Given the description of an element on the screen output the (x, y) to click on. 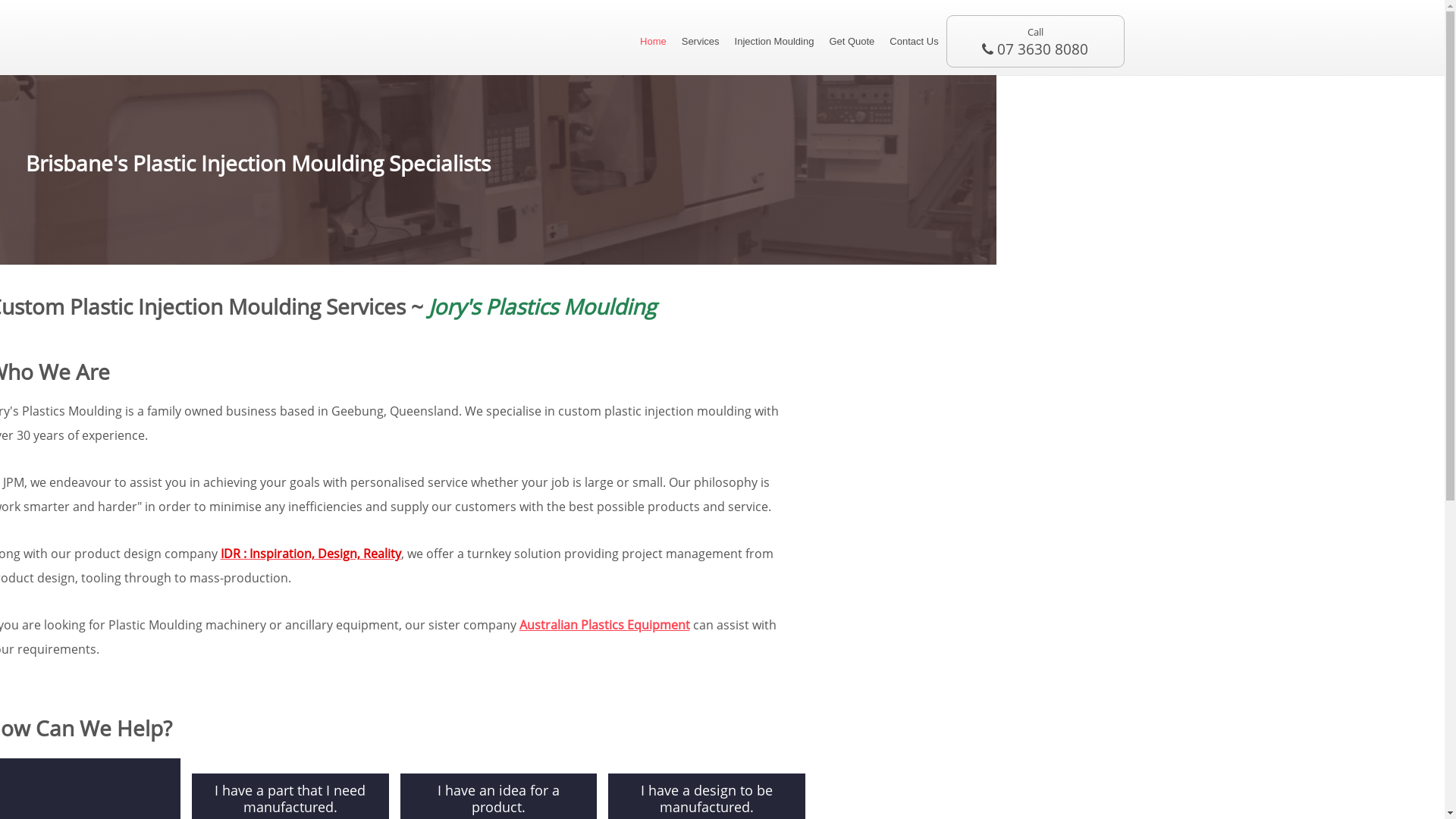
Home Element type: text (653, 41)
Call
07 3630 8080 Element type: text (1035, 41)
Injection Moulding Element type: text (774, 41)
Services Element type: text (700, 41)
Get Quote Element type: text (851, 41)
Australian Plastics Equipment Element type: text (603, 624)
Contact Us Element type: text (913, 41)
IDR : Inspiration, Design, Reality Element type: text (309, 553)
